Given the description of an element on the screen output the (x, y) to click on. 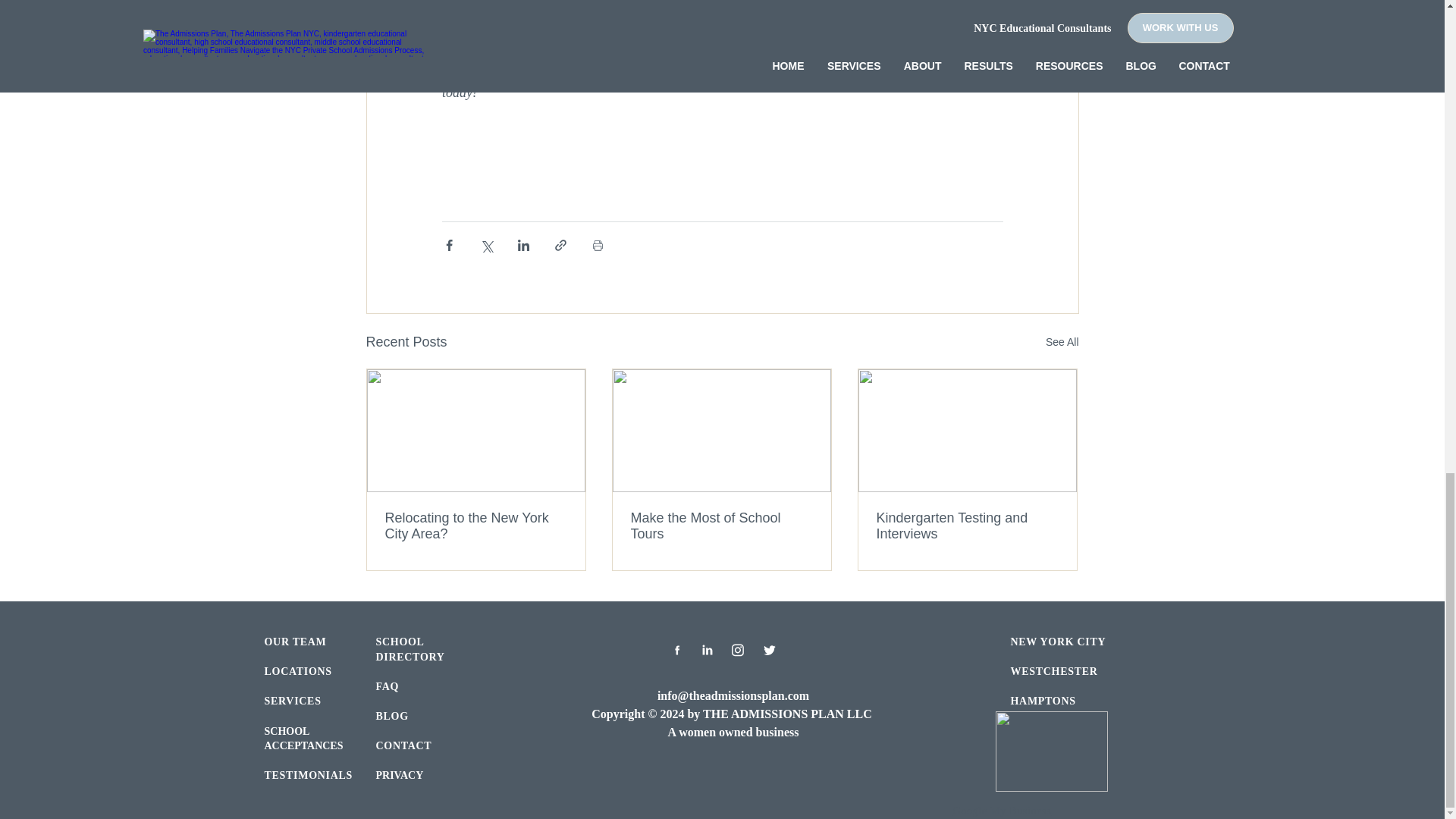
TESTIMONIALS (307, 775)
Make the Most of School Tours (721, 526)
OUR TEAM (294, 641)
LOCATIONS (297, 671)
call (955, 72)
SERVICES (291, 700)
SCHOOL (285, 731)
Relocating to the New York City Area? (476, 526)
Kindergarten Testing and Interviews (967, 526)
ISAAGNY Logo 2024.png (1050, 751)
ACCEPTANCES (302, 745)
See All (1061, 341)
